Given the description of an element on the screen output the (x, y) to click on. 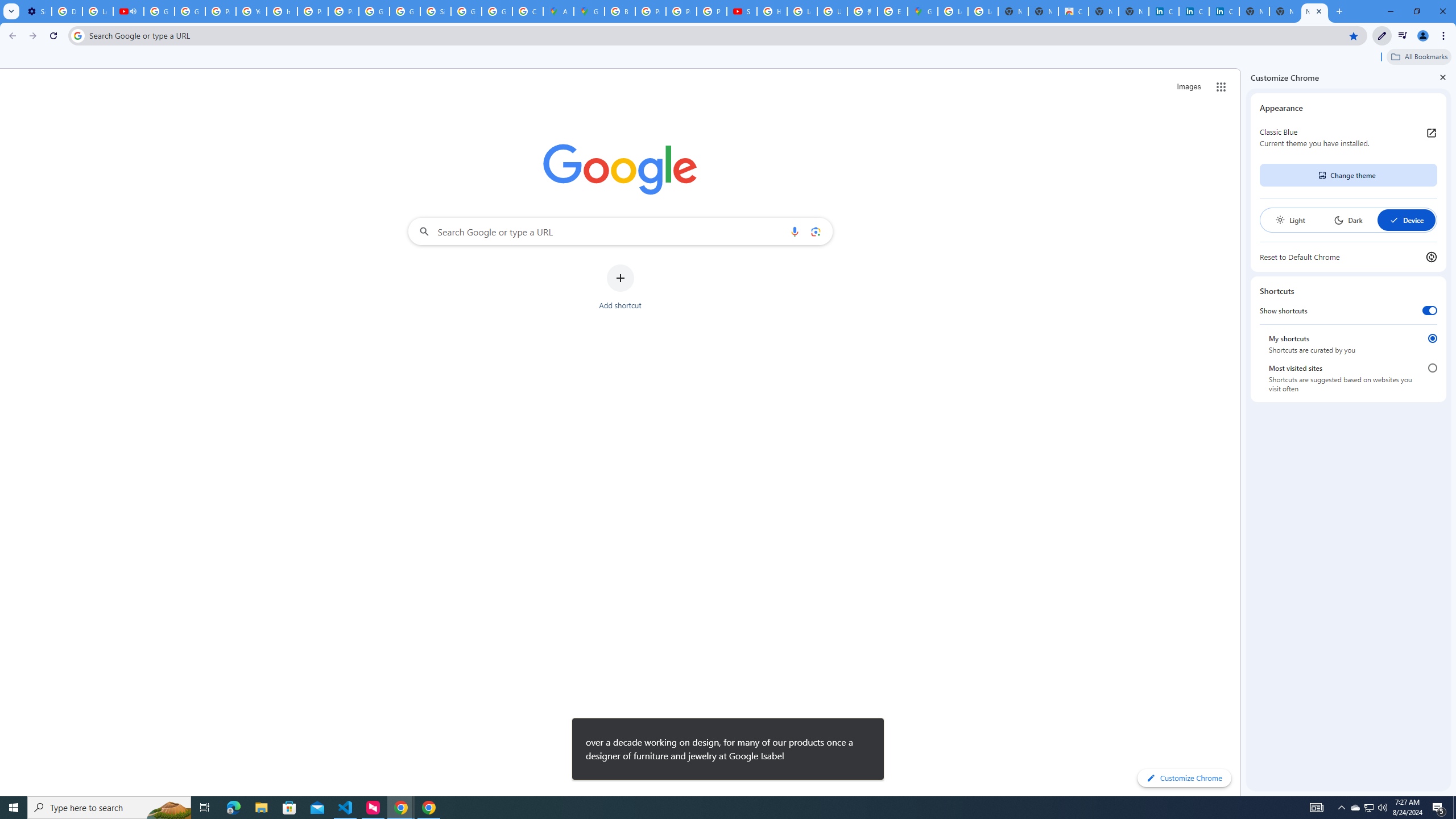
AutomationID: baseSvg (1394, 219)
Cookie Policy | LinkedIn (1163, 11)
Device (1406, 219)
Dark (1348, 219)
Privacy Help Center - Policies Help (681, 11)
Chrome Web Store (1072, 11)
Change theme (1348, 174)
Settings - Customize profile (36, 11)
